Given the description of an element on the screen output the (x, y) to click on. 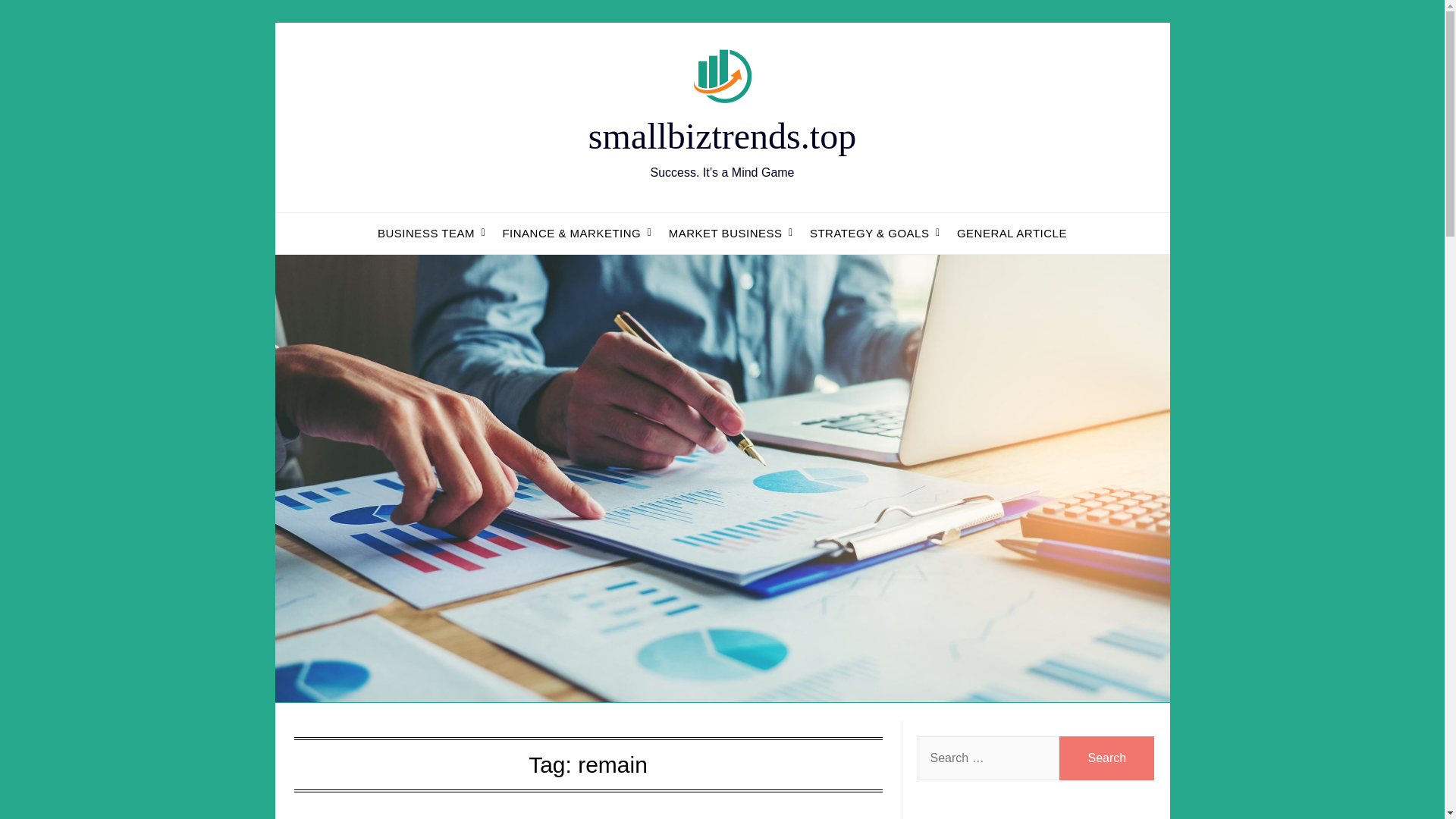
Search (1106, 758)
BUSINESS TEAM (425, 232)
Search (1106, 758)
MARKET BUSINESS (725, 232)
smallbiztrends.top (722, 136)
GENERAL ARTICLE (1011, 232)
